Given the description of an element on the screen output the (x, y) to click on. 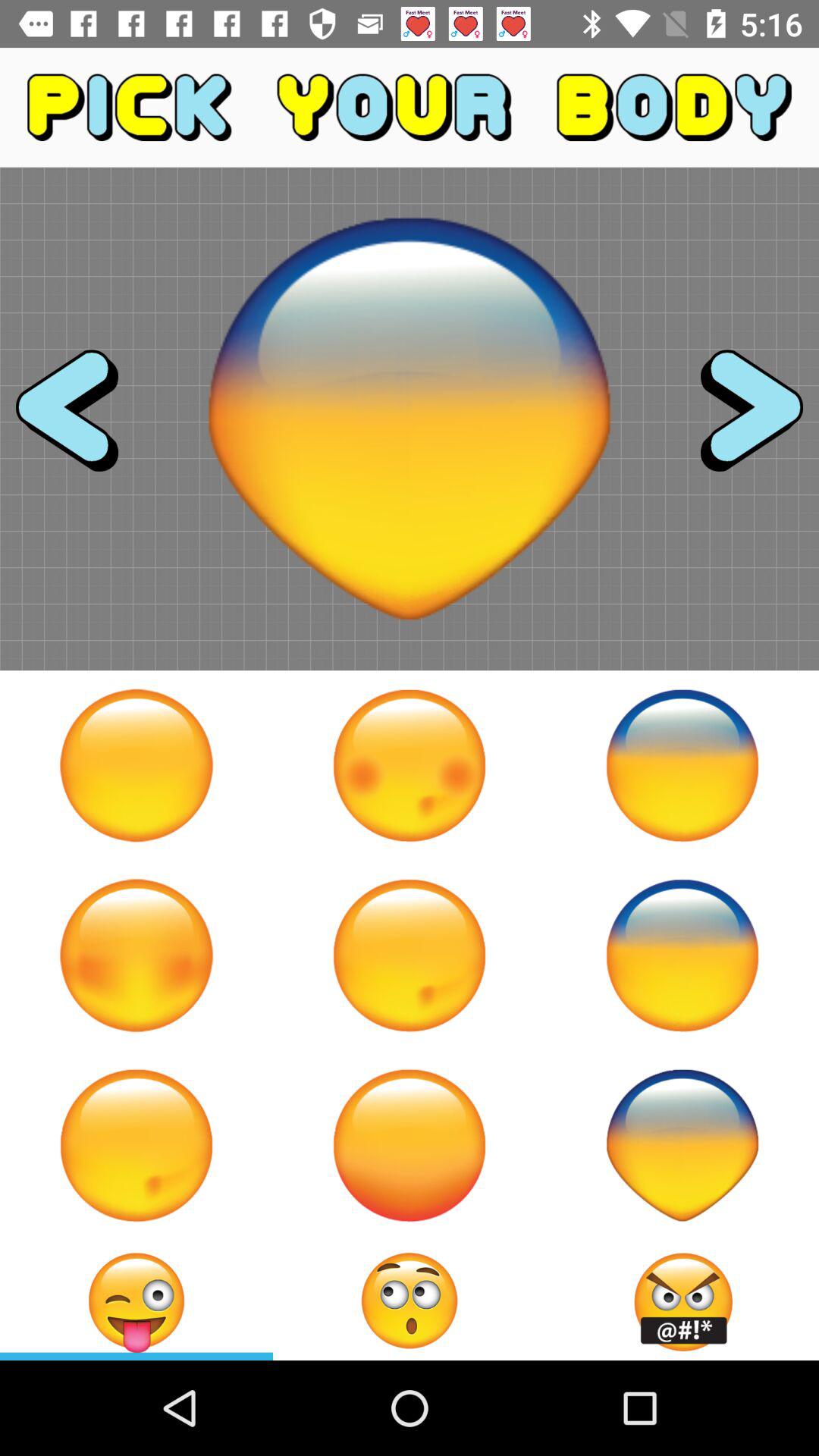
select the blushing face (136, 955)
